Given the description of an element on the screen output the (x, y) to click on. 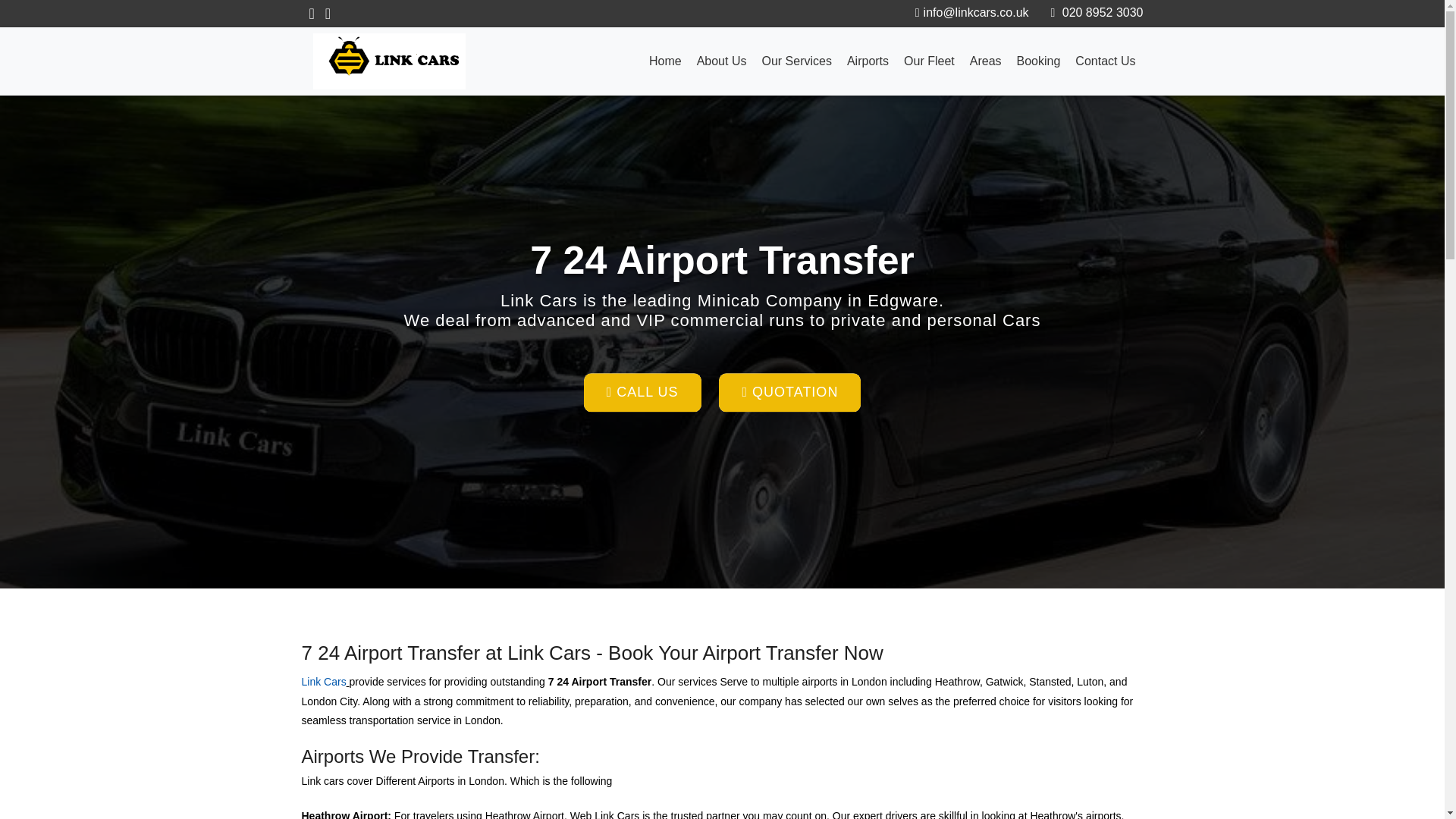
About Us (721, 61)
Our Services (796, 61)
QUOTATION (789, 392)
CALL US (642, 392)
Airports (868, 61)
Areas (985, 61)
020 8952 3030 (1094, 11)
Our Fleet (929, 61)
Booking (1038, 61)
Home (665, 61)
Contact Us (1104, 61)
